Given the description of an element on the screen output the (x, y) to click on. 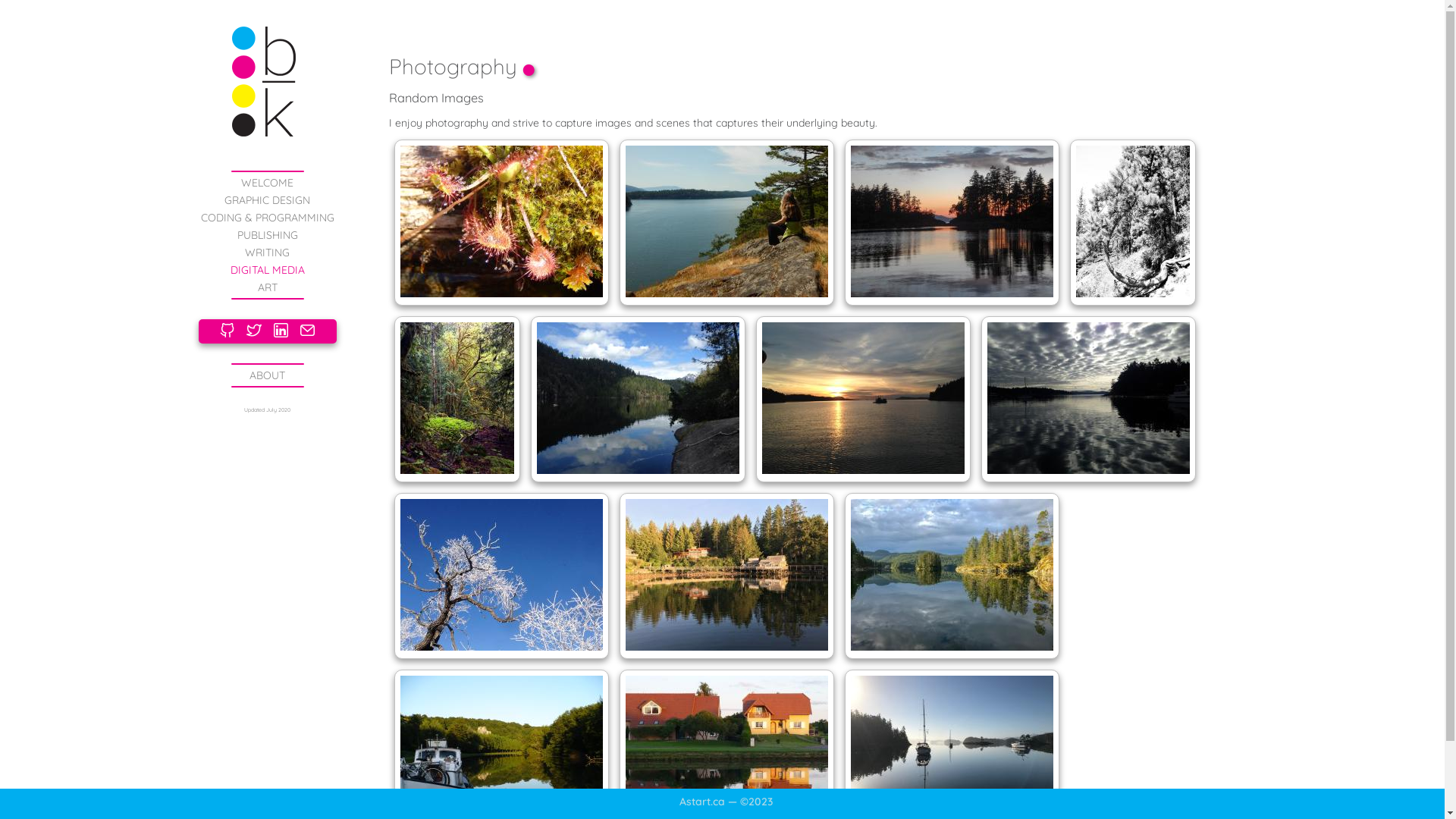
ART Element type: text (267, 287)
ABOUT Element type: text (267, 375)
WRITING Element type: text (266, 252)
CODING & PROGRAMMING Element type: text (266, 217)
PUBLISHING Element type: text (266, 234)
WELCOME Element type: text (267, 182)
DIGITAL MEDIA Element type: text (267, 269)
GRAPHIC DESIGN Element type: text (267, 200)
